Given the description of an element on the screen output the (x, y) to click on. 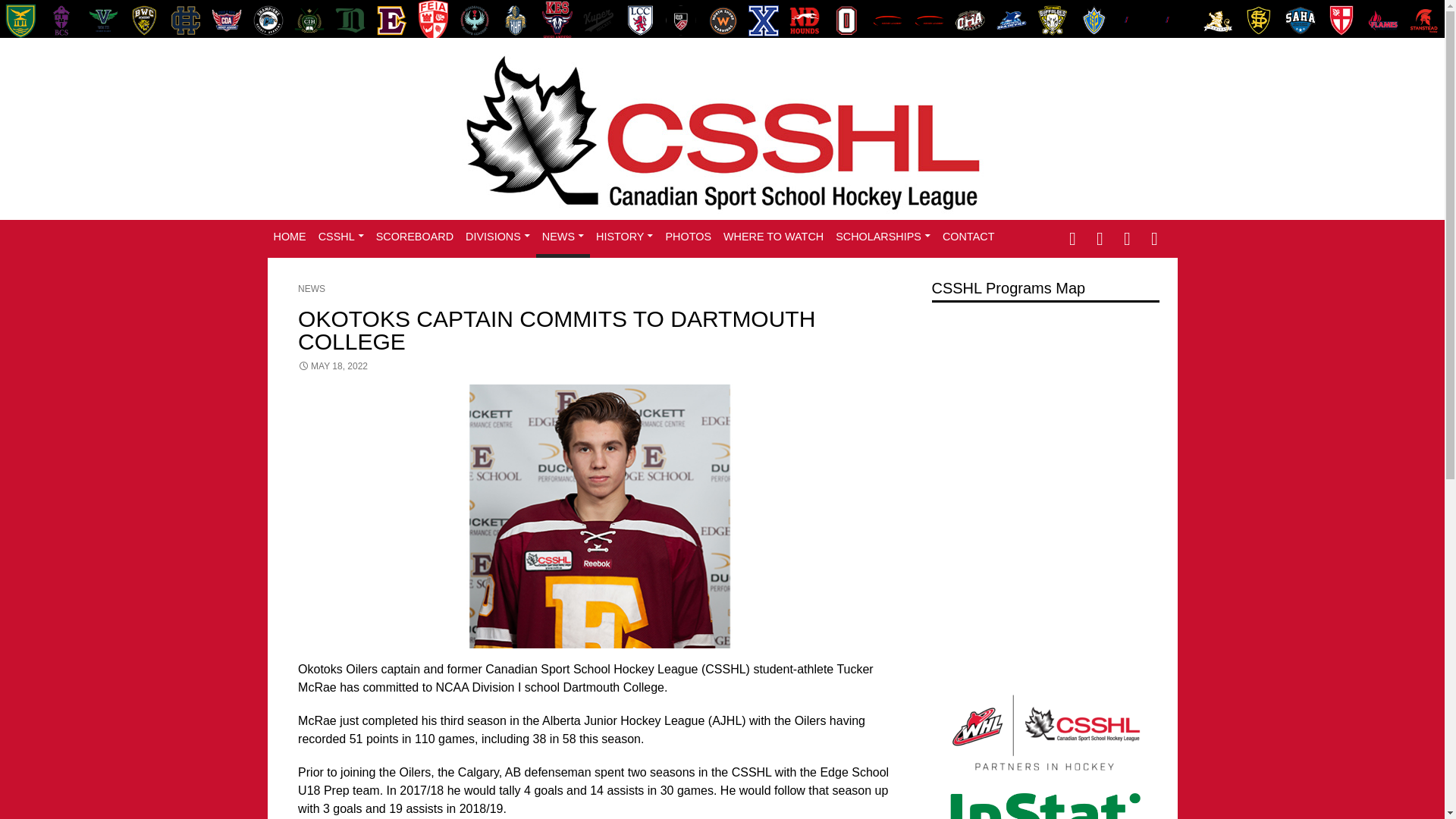
Lower Canada College (640, 20)
King Heights Academy (515, 20)
BWC Academy (144, 20)
Delta Hockey Academy (350, 20)
Mount Academy (681, 20)
Bishop's College School (61, 20)
Balmoral Hall School (20, 20)
CDA Hockey Academy (227, 20)
King's Edgehill School (557, 20)
Indigenous Sports Academy (474, 20)
Kuper Academy (598, 20)
Calgary International Hockey Academy (186, 20)
Champions Hockey Academy (267, 20)
Fort Erie International Academy (432, 20)
Edge School (391, 20)
